Given the description of an element on the screen output the (x, y) to click on. 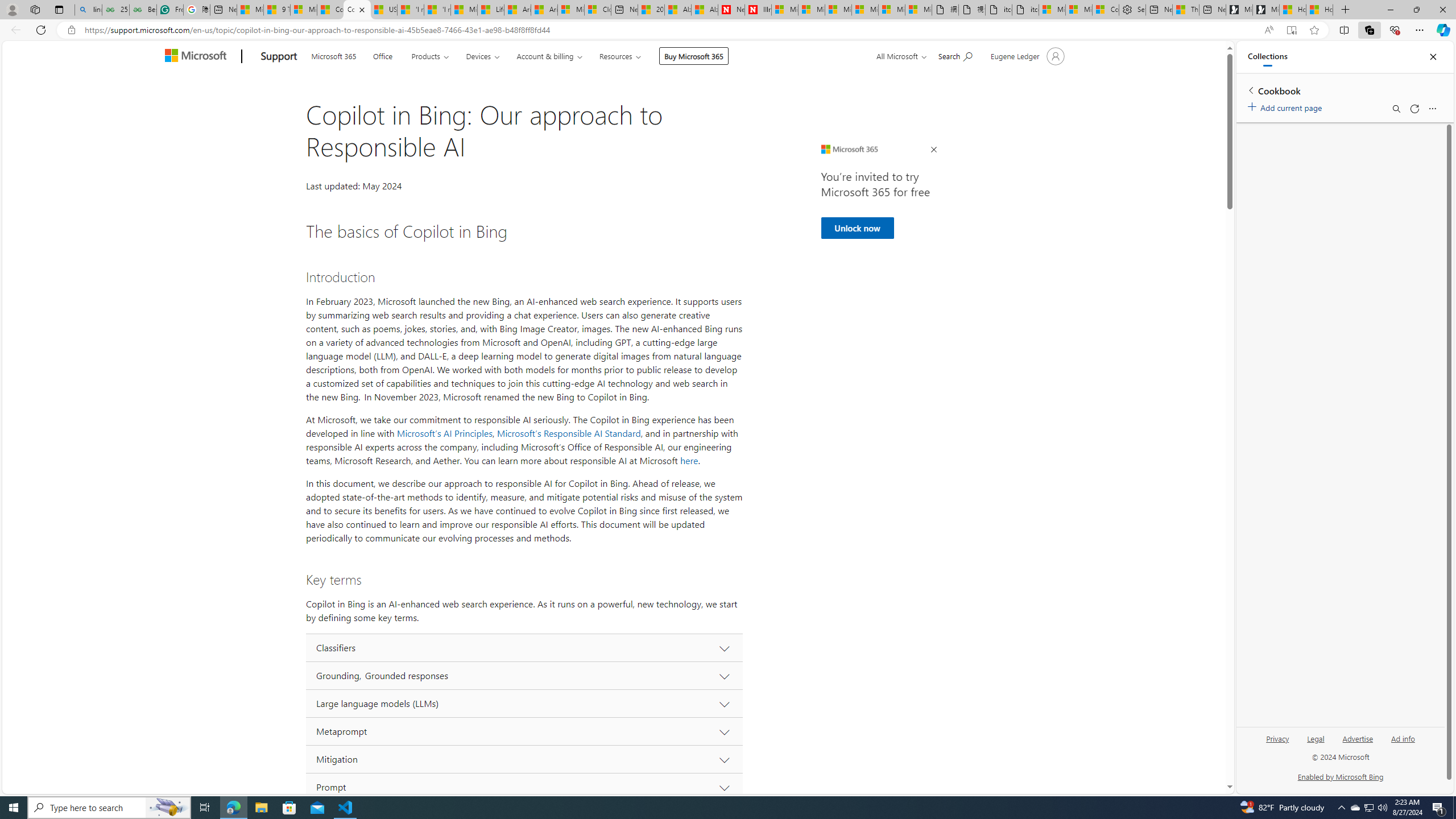
Account manager for Eugene Ledger (1025, 55)
More options menu (1432, 108)
